Given the description of an element on the screen output the (x, y) to click on. 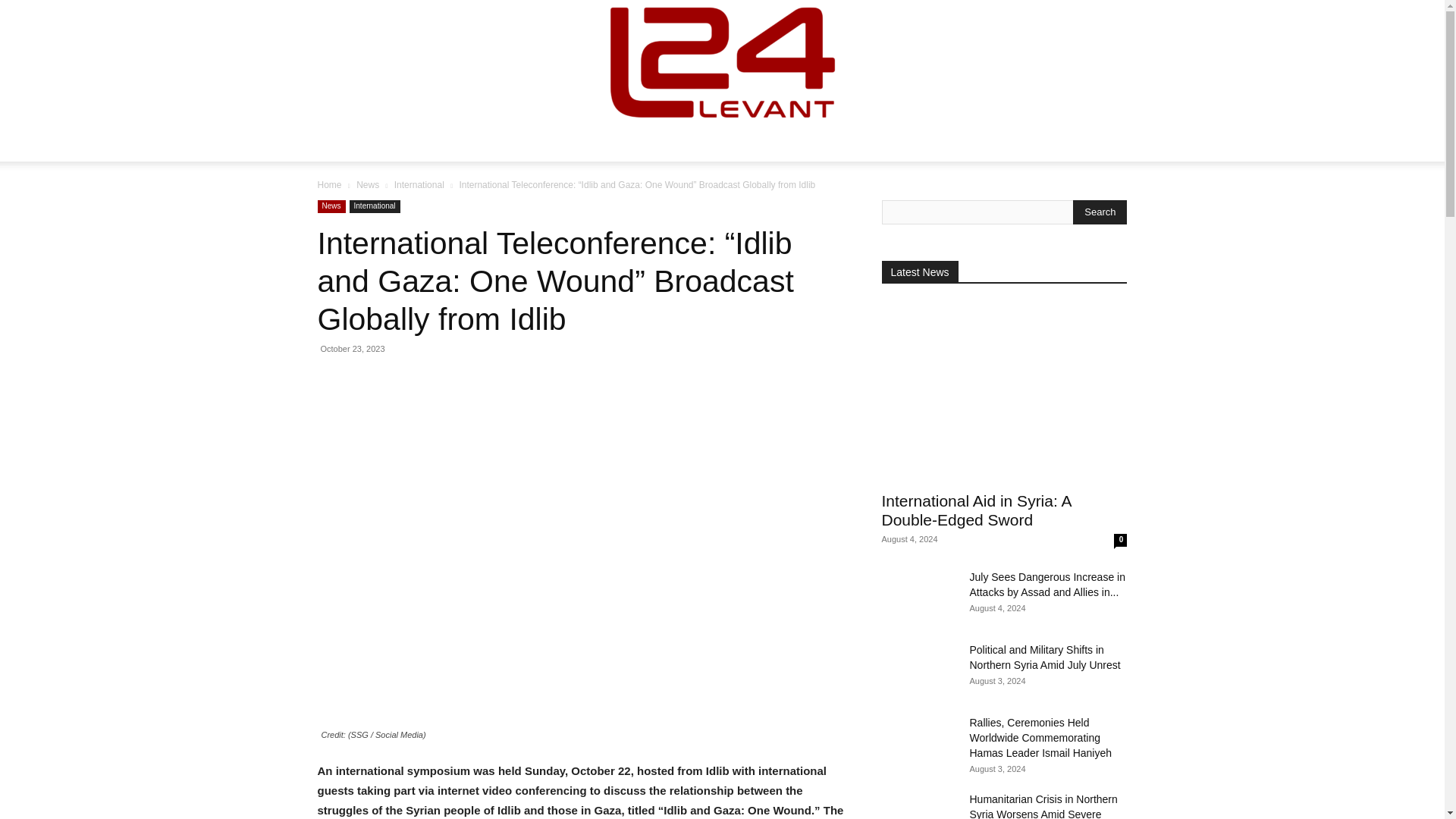
At The Heart Of It (721, 62)
INFOGRAPHICS (734, 143)
RU (968, 143)
PODCAST (650, 143)
Search (1099, 211)
NEWS (500, 143)
HOME (443, 143)
ISRAEL-PALESTINE CONFLICT (866, 143)
ARTICLES (573, 143)
levant24 (722, 62)
